Given the description of an element on the screen output the (x, y) to click on. 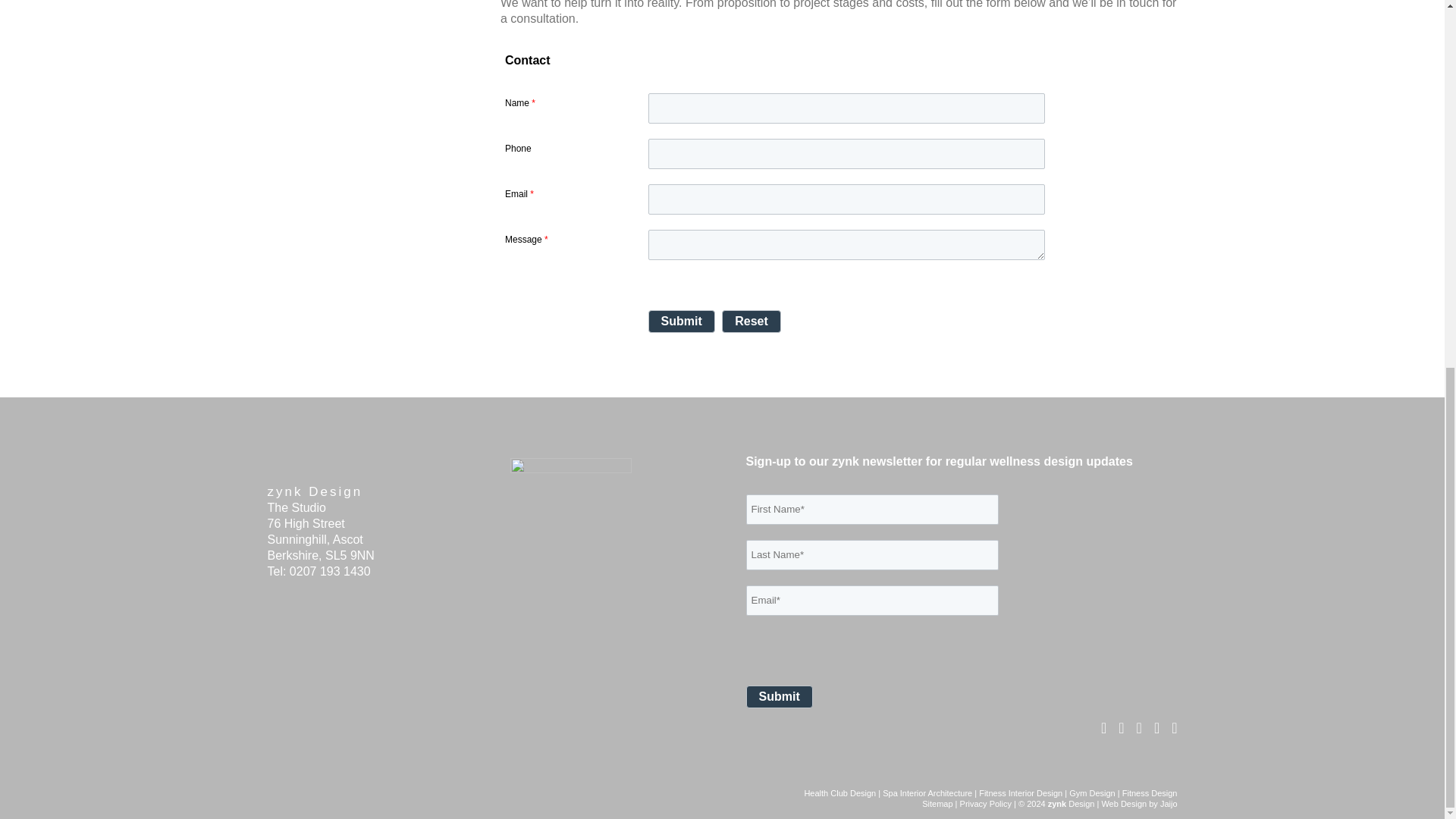
Submit (680, 321)
Submit (680, 321)
0207 193 1430 (330, 571)
Submit (680, 321)
Reset (751, 321)
Submit (778, 696)
Reset (751, 321)
Submit (778, 696)
